Given the description of an element on the screen output the (x, y) to click on. 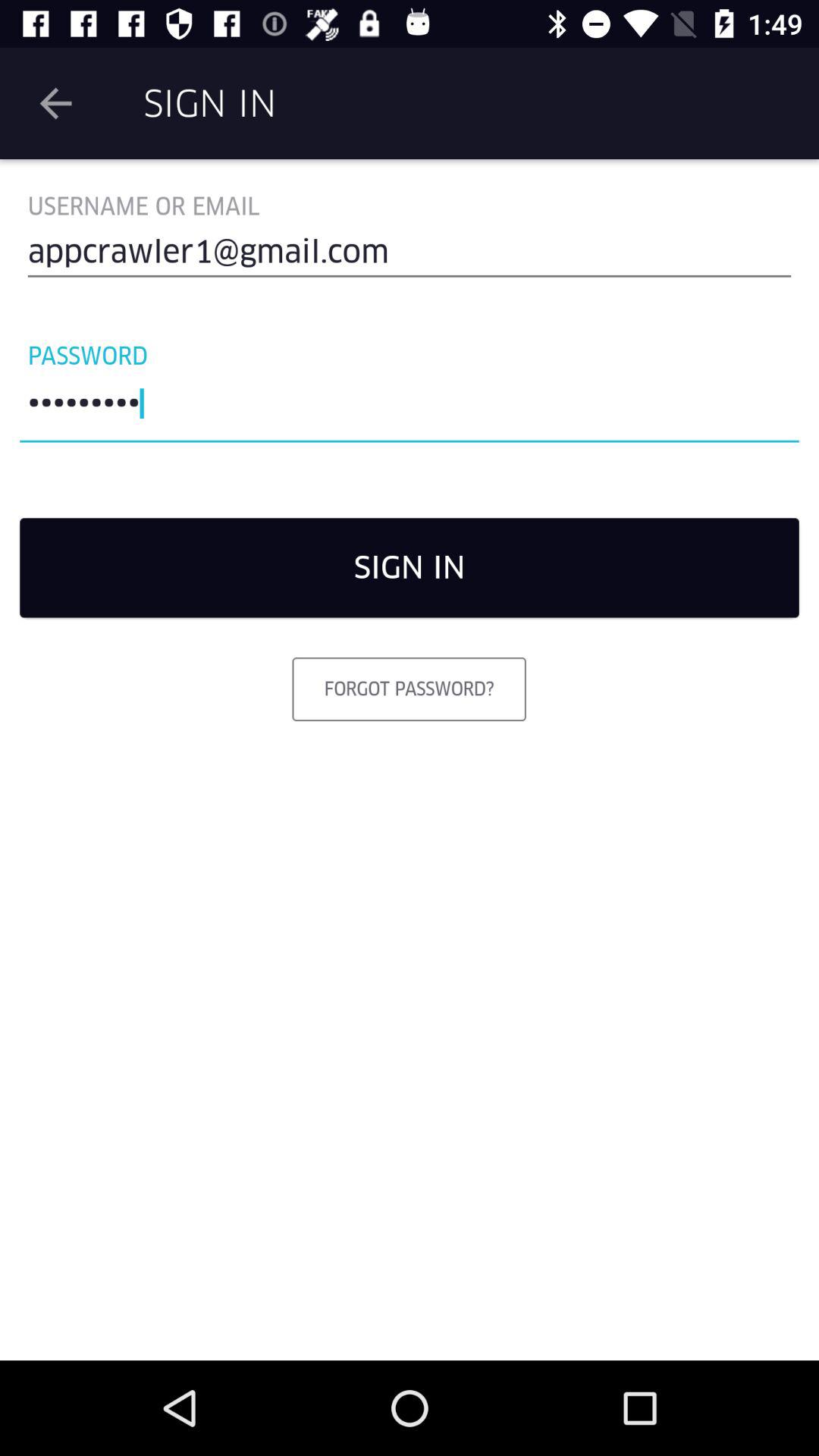
launch item above the sign in item (409, 407)
